Given the description of an element on the screen output the (x, y) to click on. 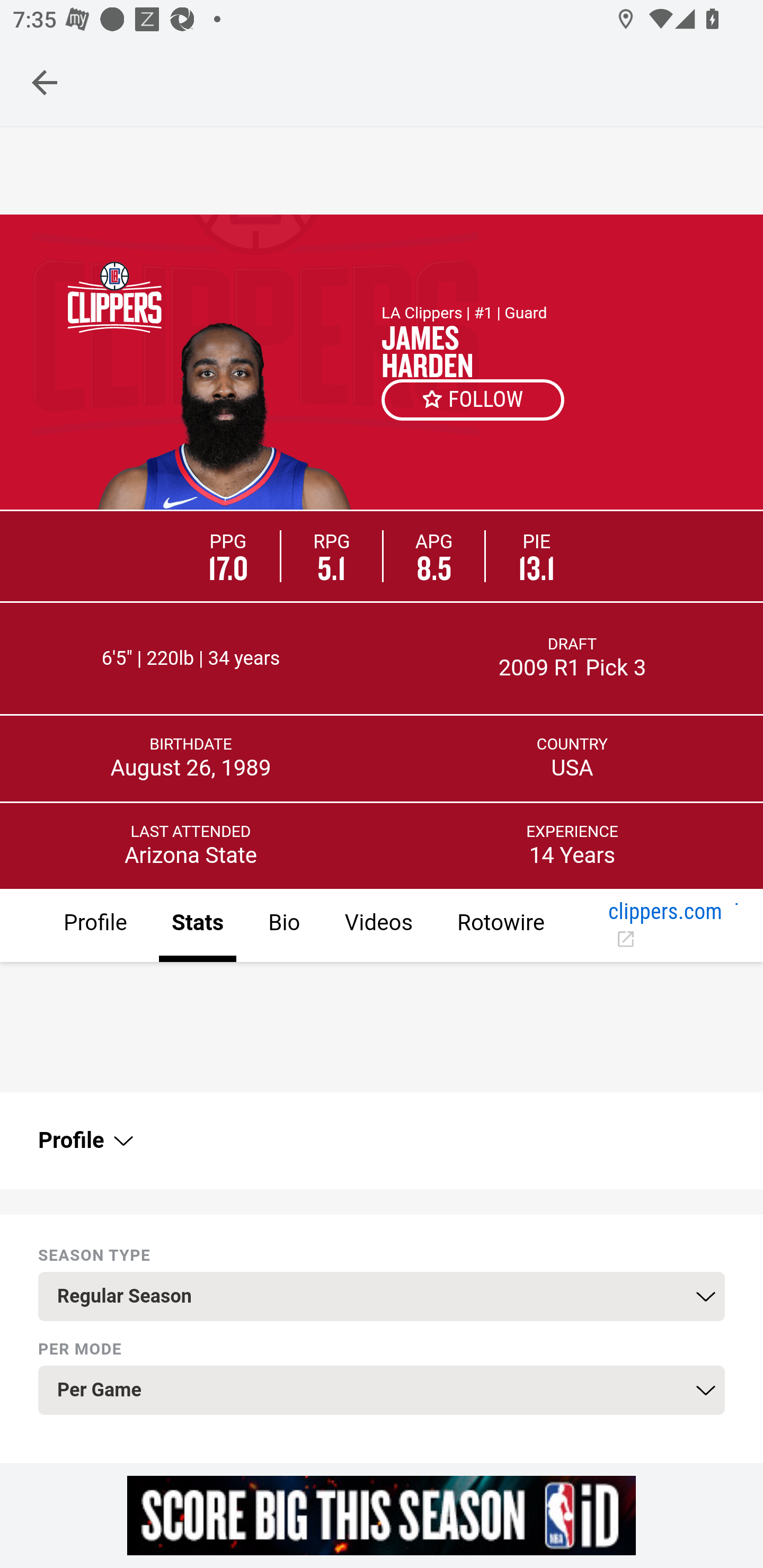
Navigate up (44, 82)
LA Clippers Logo (114, 297)
FOLLOW (473, 399)
Profile (95, 926)
Stats (196, 926)
Bio (283, 926)
Videos (377, 926)
Rotowire (500, 926)
clippers.com (665, 926)
Profile (84, 1140)
Regular Season (381, 1296)
Per Game (381, 1390)
g5nqqygr7owph (381, 1515)
